Given the description of an element on the screen output the (x, y) to click on. 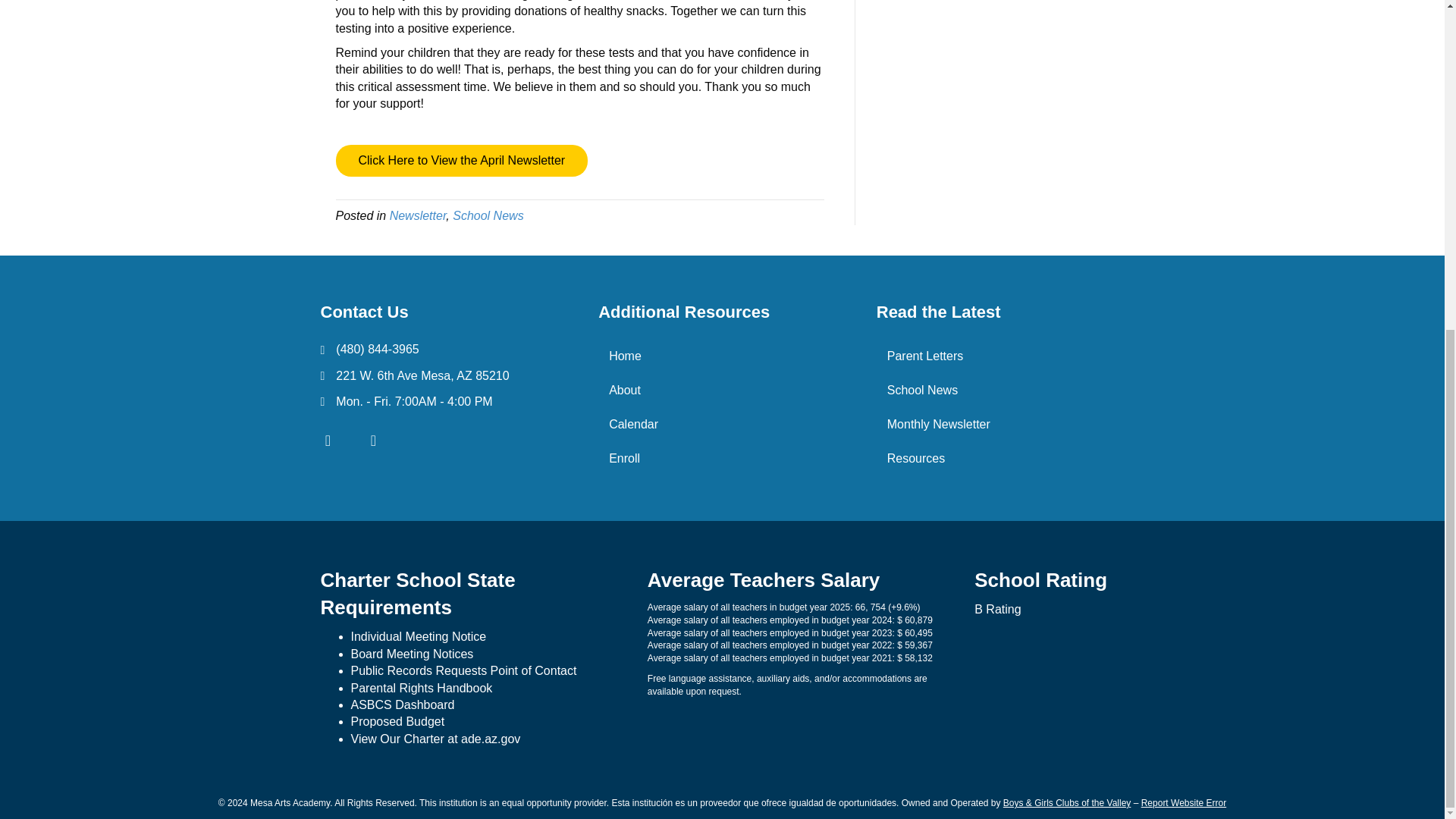
Facebook (327, 440)
Instagram (373, 440)
